Given the description of an element on the screen output the (x, y) to click on. 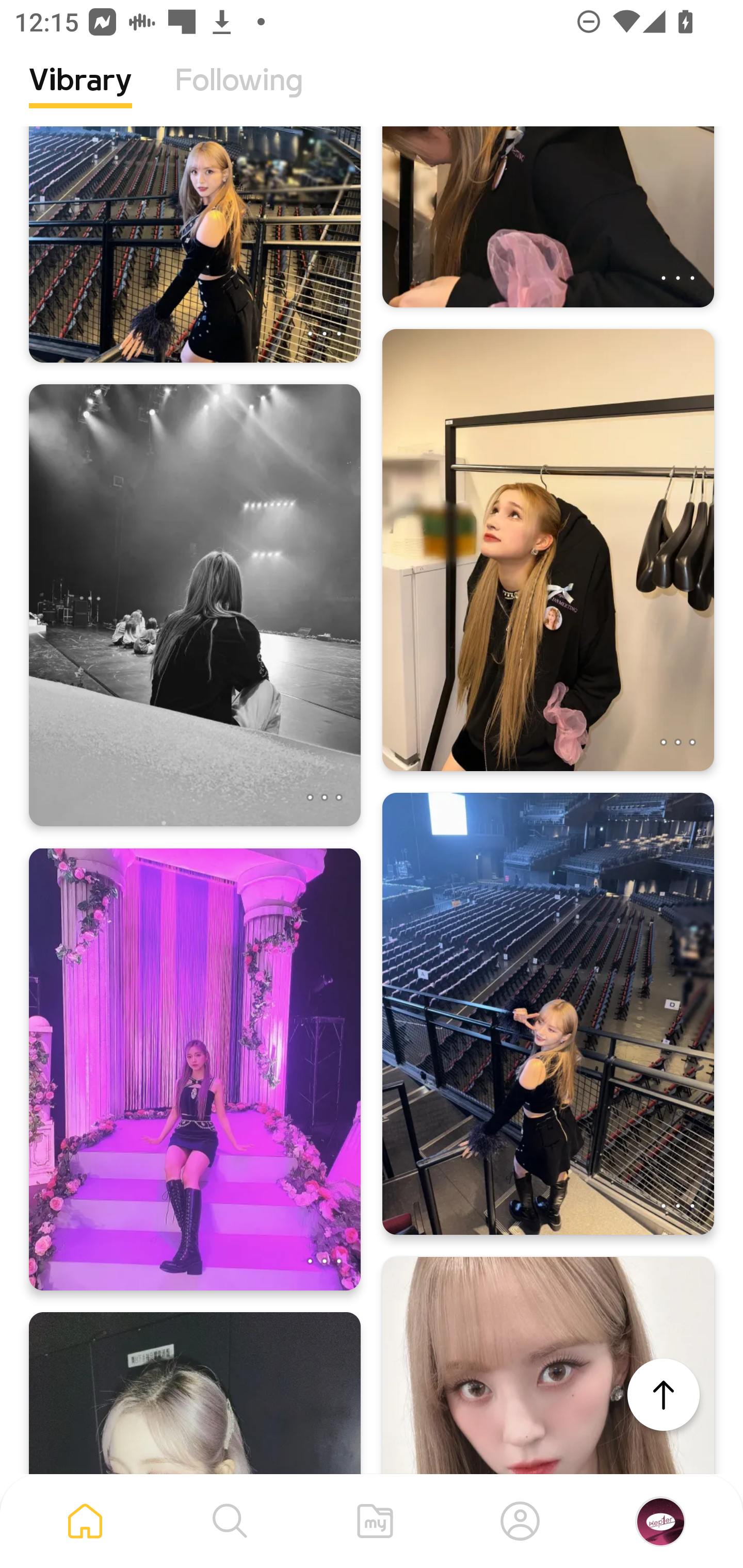
Vibrary (80, 95)
Following (239, 95)
